Given the description of an element on the screen output the (x, y) to click on. 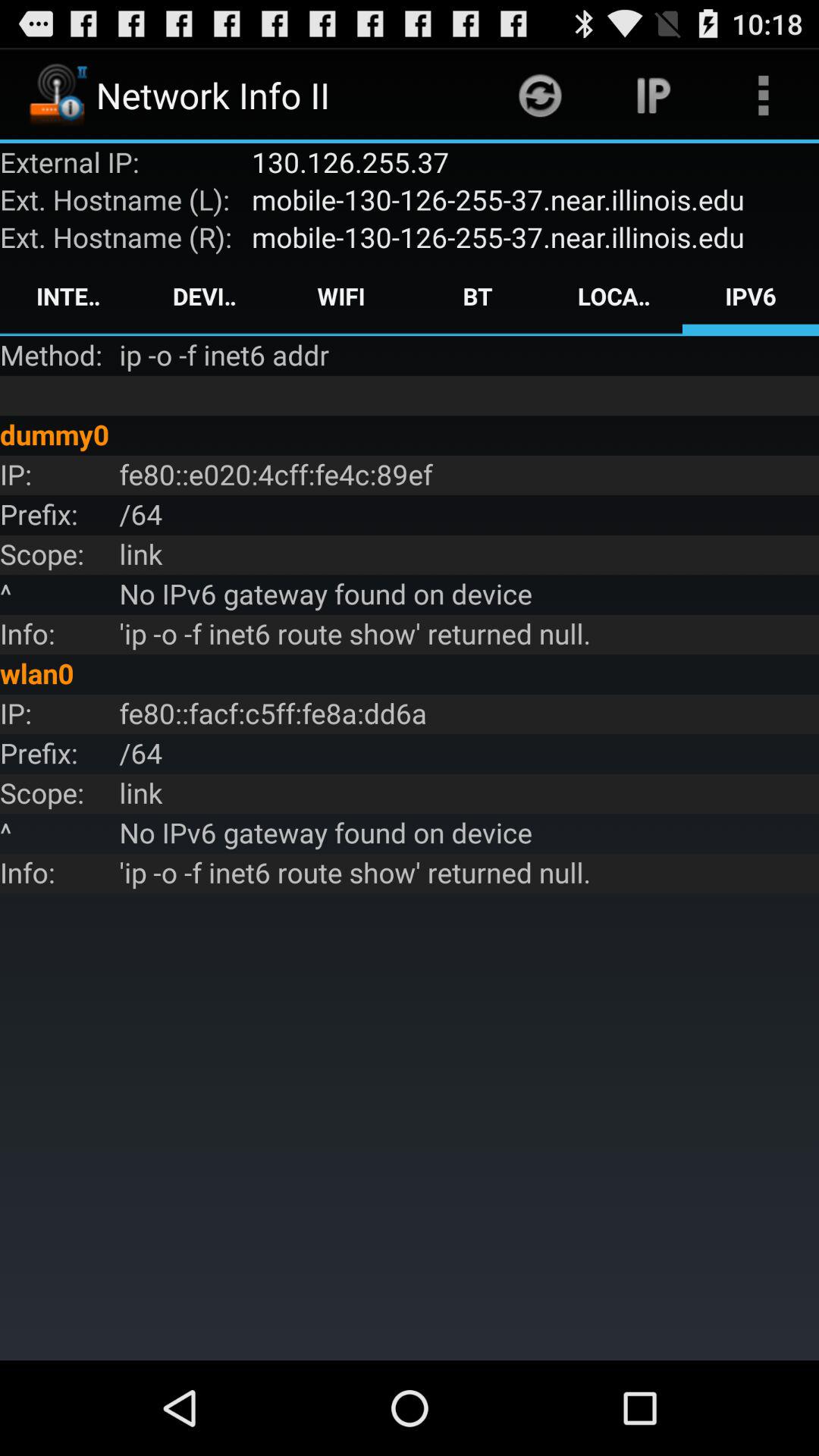
click app above 130 126 255 (540, 95)
